Given the description of an element on the screen output the (x, y) to click on. 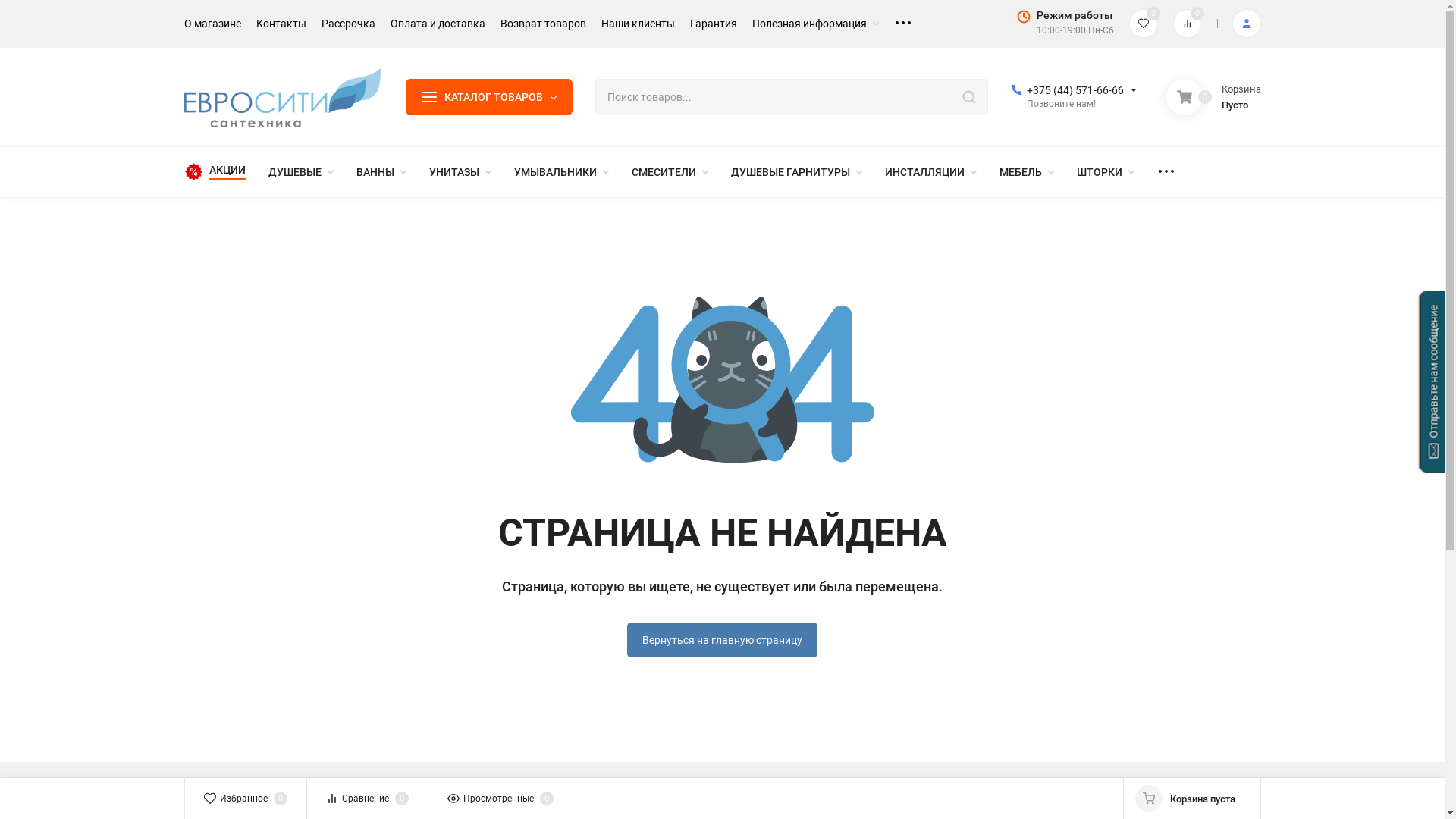
+375 (44) 571-66-66 Element type: text (1074, 90)
0 Element type: text (1186, 23)
0 Element type: text (1142, 23)
